Given the description of an element on the screen output the (x, y) to click on. 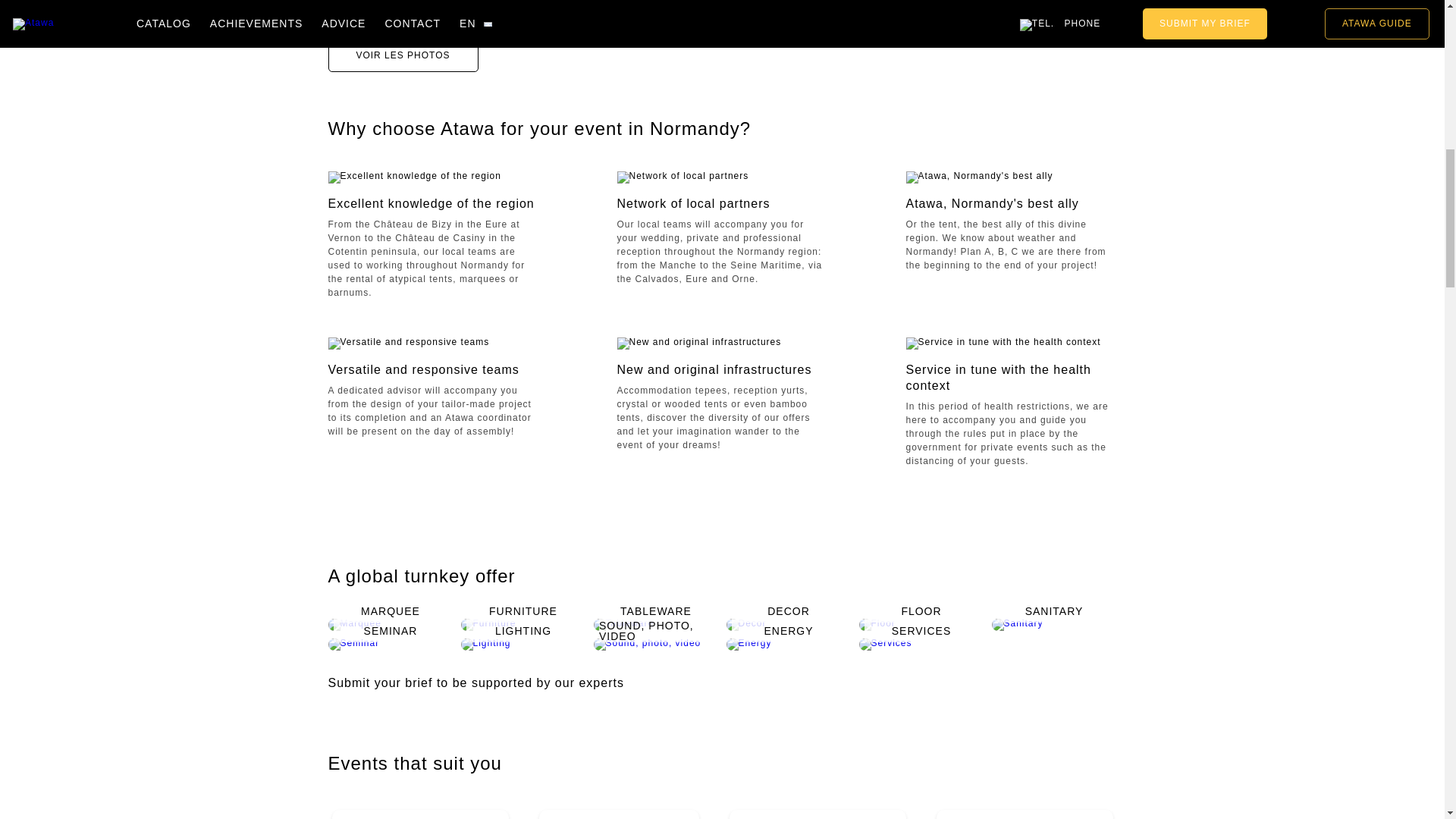
TABLEWARE (654, 624)
FURNITURE (523, 624)
DECOR (788, 624)
VOIR LES PHOTOS (402, 55)
FLOOR (921, 624)
ENERGY (788, 644)
LIGHTING (523, 644)
SOUND, PHOTO, VIDEO (654, 644)
Submit your brief to be supported by our experts (486, 682)
MARQUEE (389, 624)
